Given the description of an element on the screen output the (x, y) to click on. 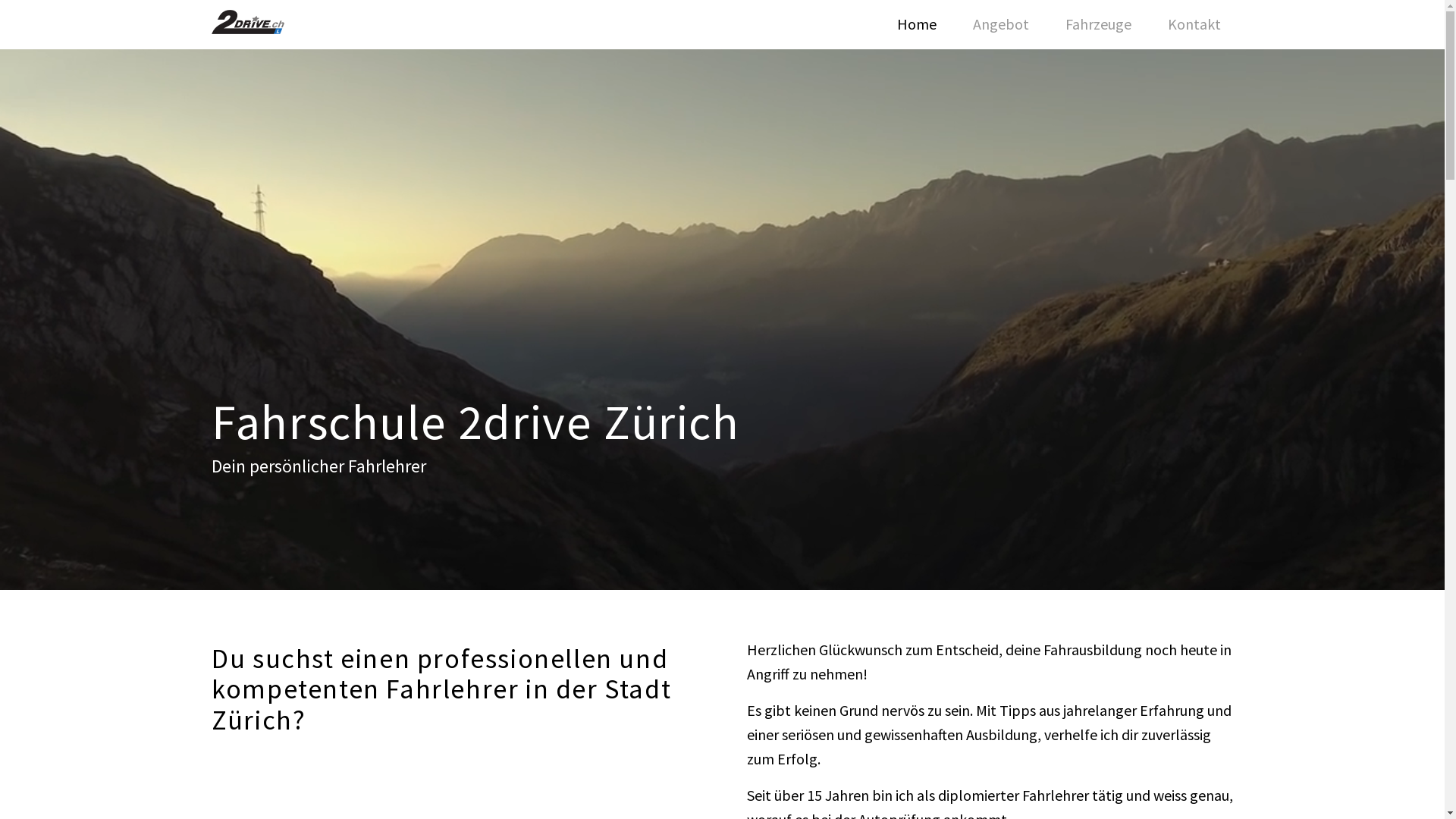
Kontakt Element type: text (1194, 23)
Home Element type: text (916, 23)
Angebot Element type: text (1000, 23)
Fahrzeuge Element type: text (1098, 23)
